Given the description of an element on the screen output the (x, y) to click on. 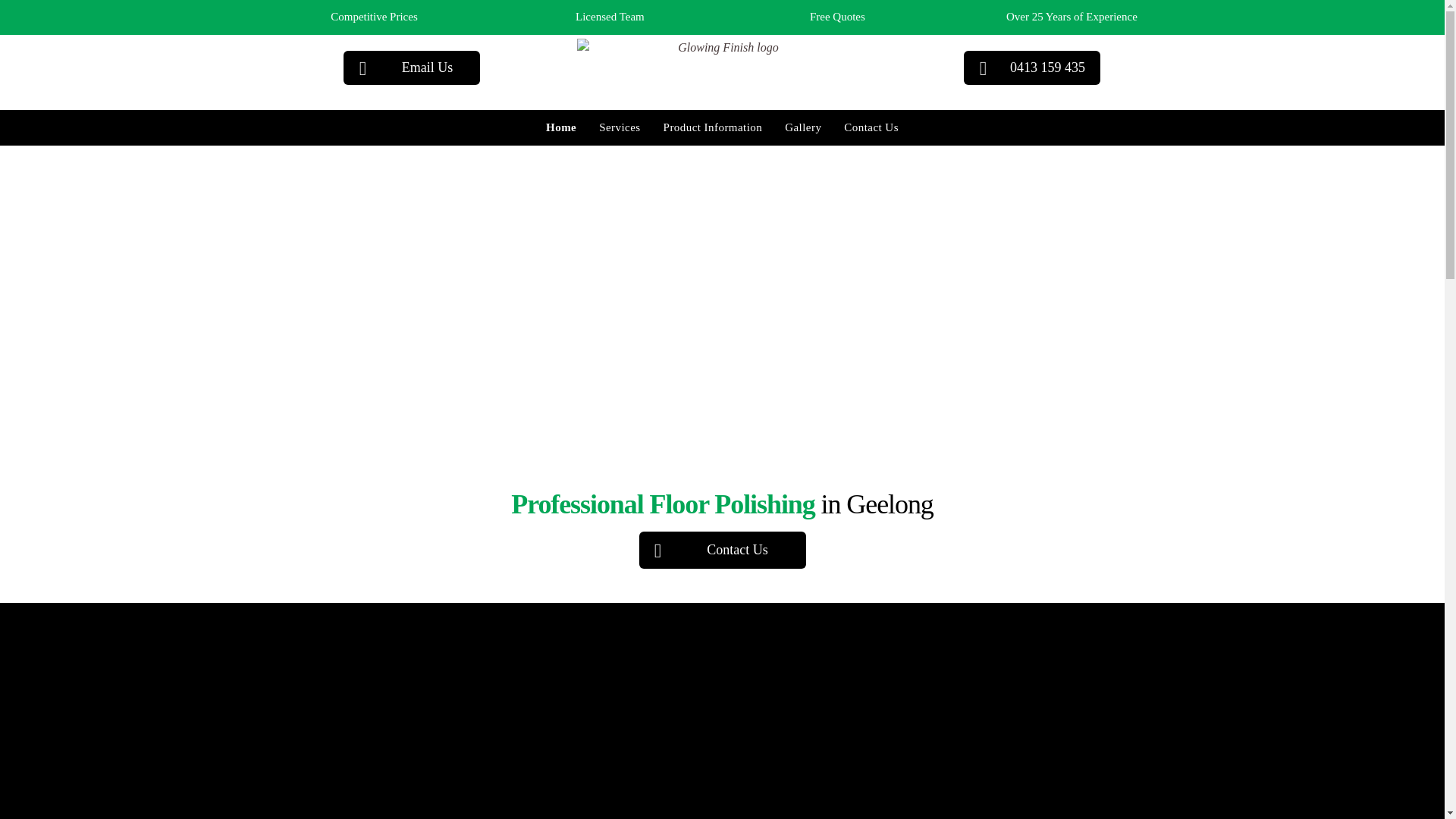
Contact Us Element type: text (721, 549)
Home Element type: text (560, 127)
Email Us Element type: text (411, 67)
0413 159 435 Element type: text (1031, 67)
Contact Us Element type: text (871, 127)
Services Element type: text (619, 127)
Product Information Element type: text (713, 127)
Gallery Element type: text (802, 127)
